Given the description of an element on the screen output the (x, y) to click on. 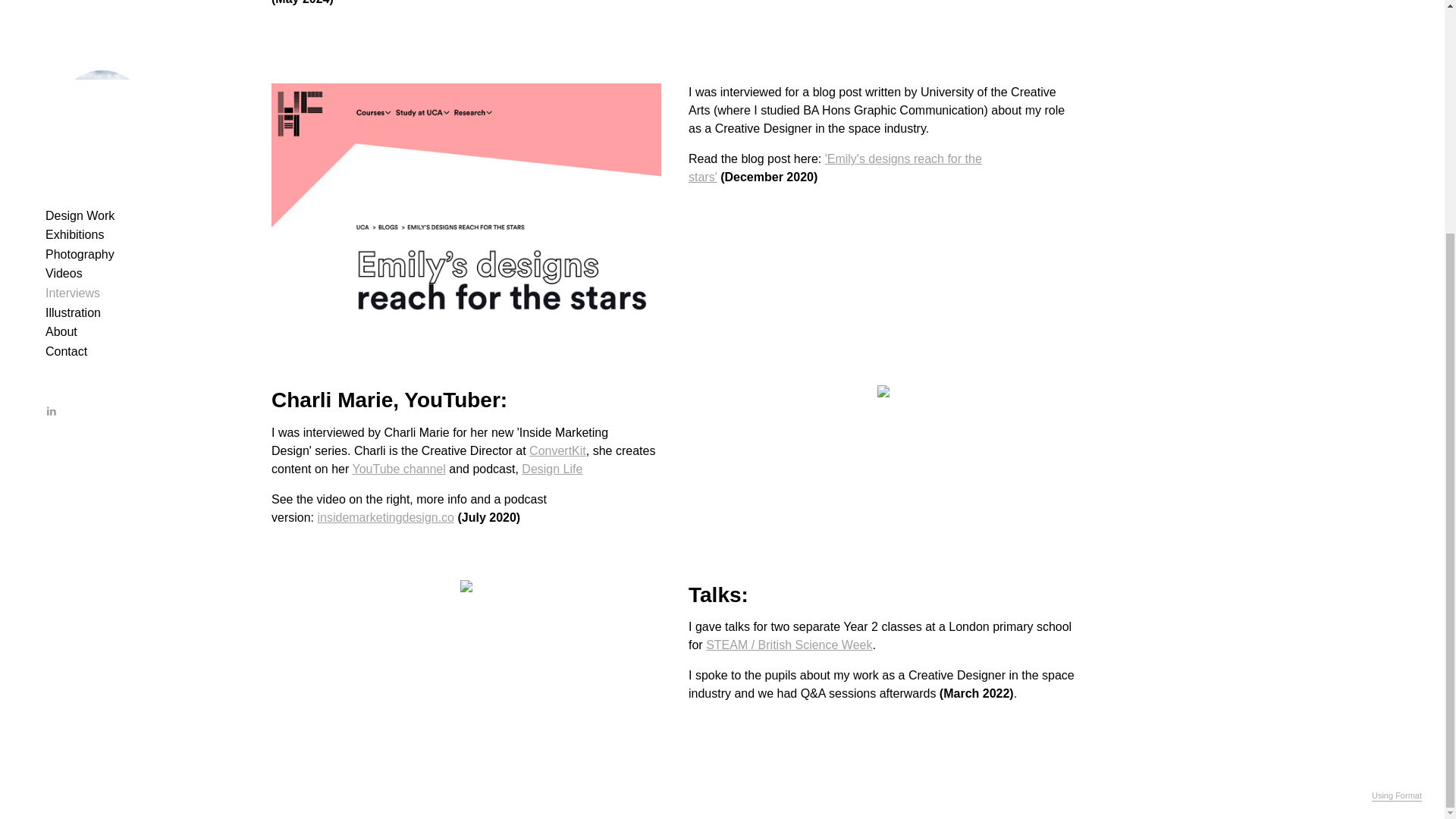
ConvertKit (557, 450)
Illustration (72, 1)
insidemarketingdesign.co (385, 517)
Design Life (551, 468)
About (61, 14)
Using Format (1396, 479)
YouTube channel (398, 468)
Contact (66, 33)
'Emily's designs reach for the stars' (834, 167)
